Given the description of an element on the screen output the (x, y) to click on. 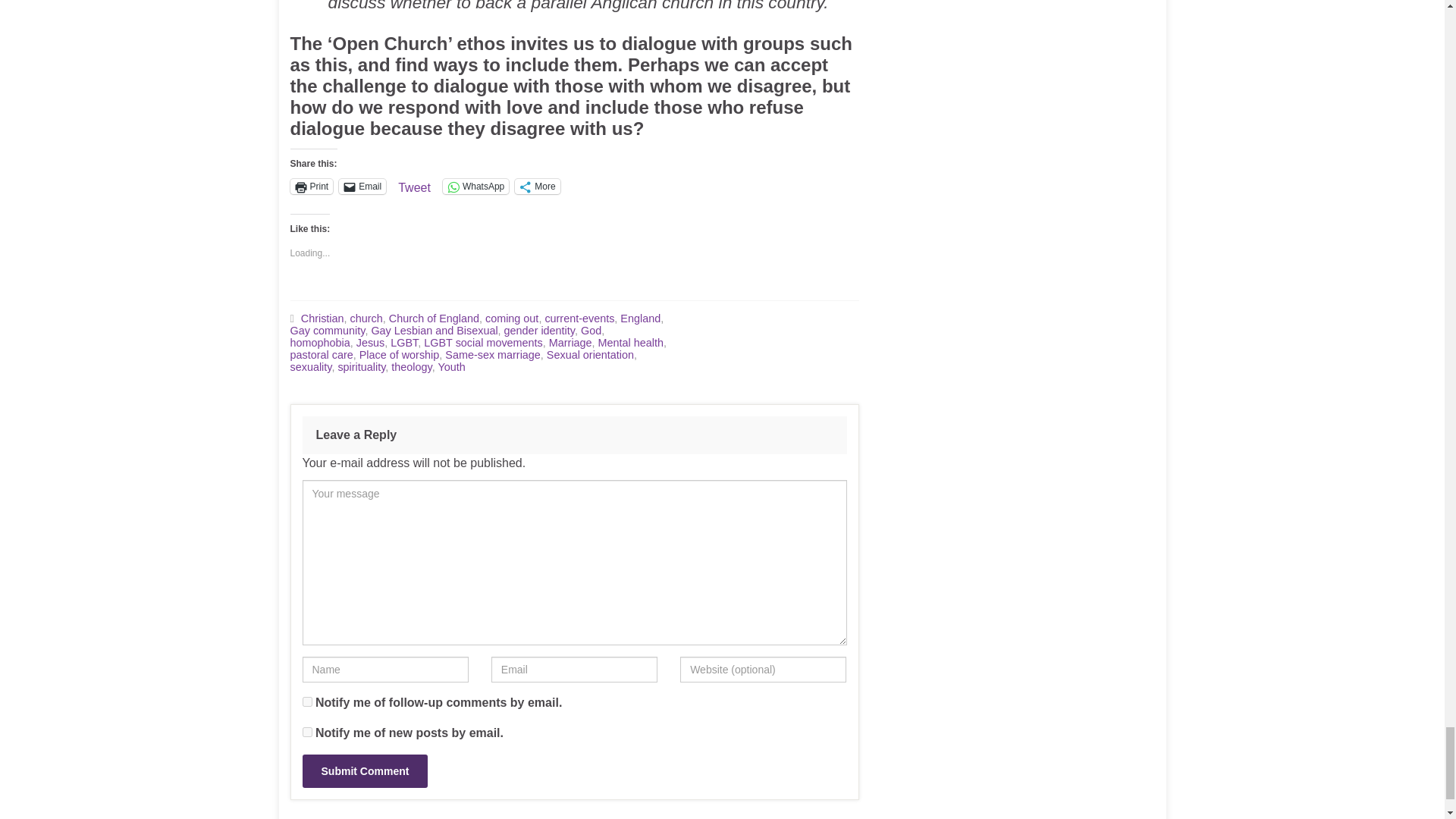
Submit Comment (364, 770)
subscribe (306, 732)
Click to email a link to a friend (362, 186)
subscribe (306, 701)
Click to share on WhatsApp (475, 186)
Click to print (311, 186)
